Given the description of an element on the screen output the (x, y) to click on. 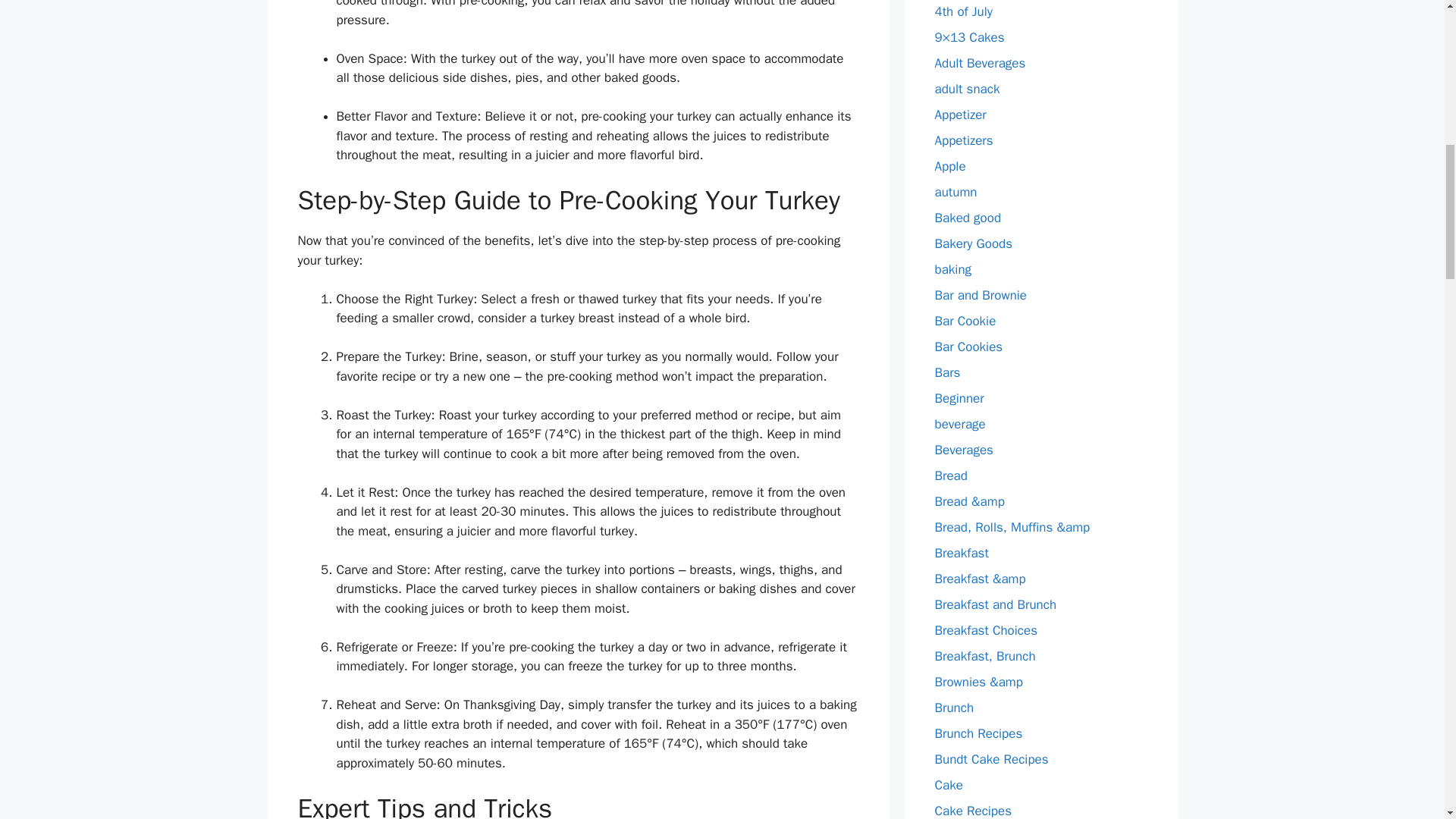
Appetizers (963, 139)
Appetizer (959, 114)
Adult Beverages (979, 62)
4th of July (962, 10)
Baked good (967, 217)
adult snack (966, 88)
Bakery Goods (972, 242)
autumn (955, 191)
Apple (949, 165)
